Given the description of an element on the screen output the (x, y) to click on. 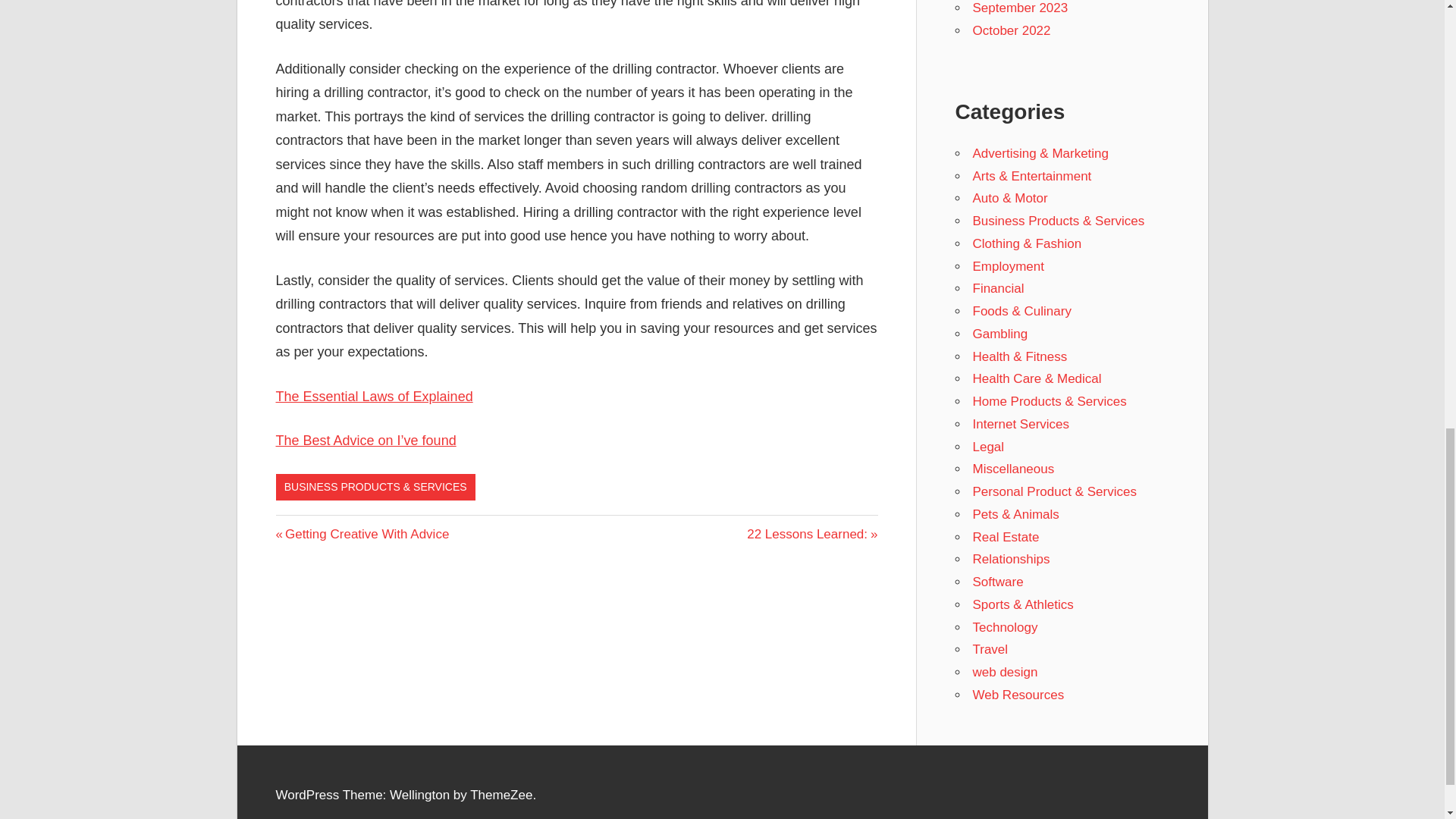
Financial (997, 288)
Employment (1007, 266)
The Essential Laws of Explained (362, 534)
Internet Services (374, 396)
Gambling (1020, 423)
October 2022 (811, 534)
September 2023 (999, 333)
